Given the description of an element on the screen output the (x, y) to click on. 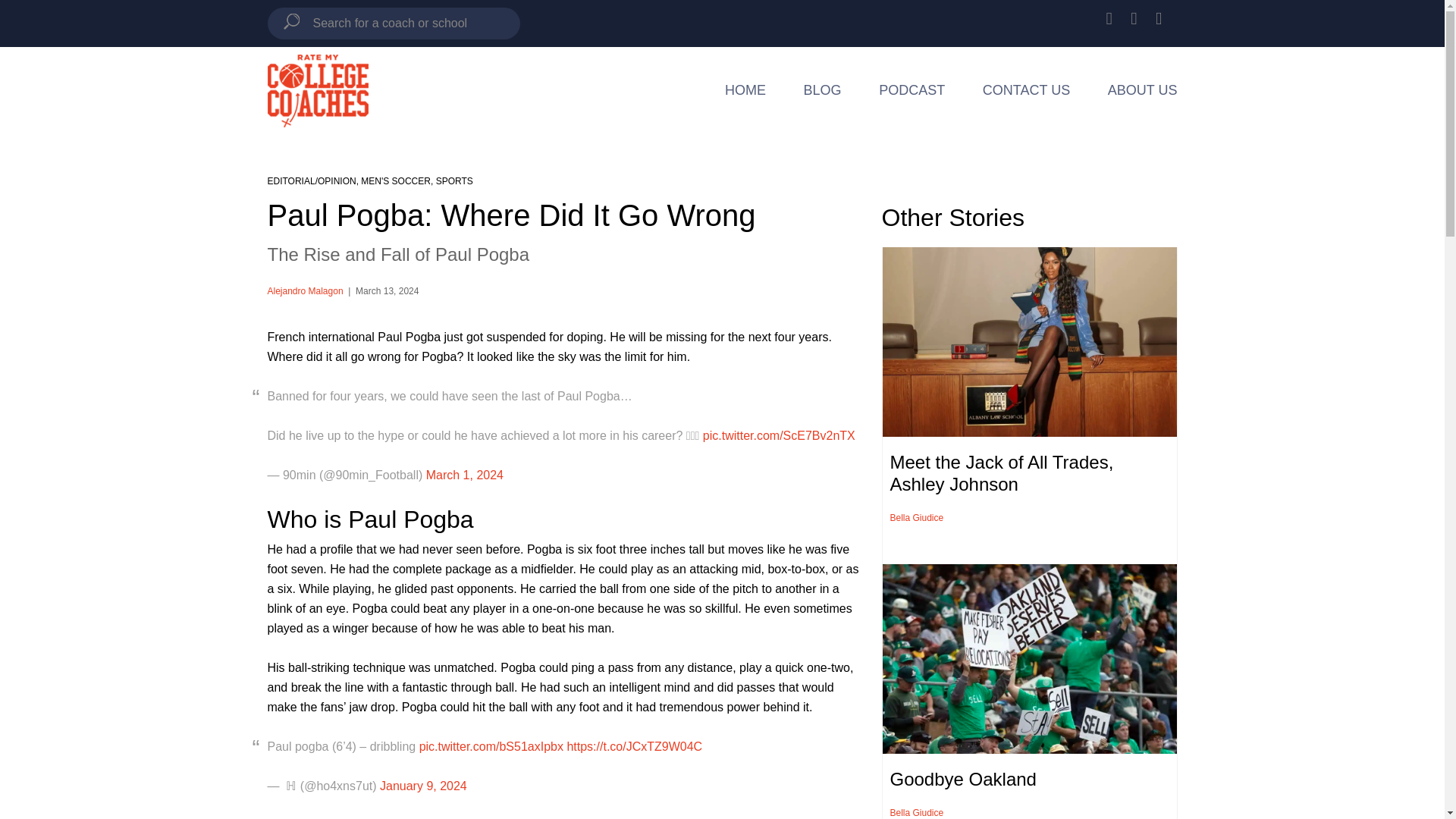
MEN'S SOCCER (395, 181)
Goodbye Oakland (962, 779)
Search (292, 23)
Meet the Jack of All Trades, Ashley Johnson (1001, 473)
Bella Giudice (916, 517)
SPORTS (454, 181)
HOME (745, 92)
Search (292, 23)
March 1, 2024 (464, 474)
CONTACT US (1026, 92)
BLOG (822, 92)
Alejandro Malagon (304, 290)
January 9, 2024 (423, 785)
Search (292, 23)
ABOUT US (1142, 92)
